Given the description of an element on the screen output the (x, y) to click on. 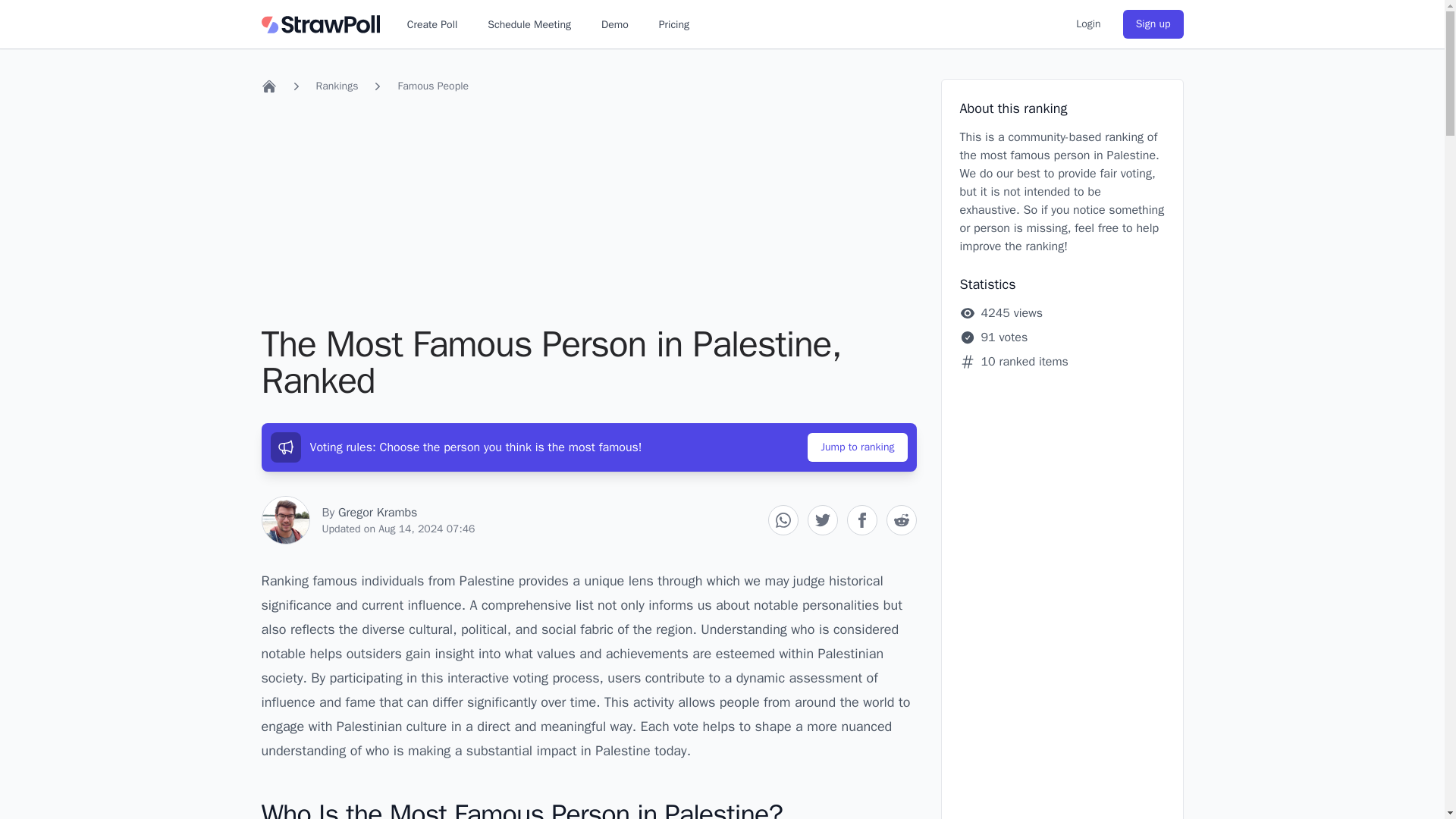
Rankings (336, 86)
Create Poll (432, 24)
Advertisement (587, 212)
Schedule Meeting (528, 24)
Famous People (432, 86)
Gregor Krambs (377, 512)
Jump to ranking (857, 447)
Login (1087, 23)
Sign up (1152, 23)
